Given the description of an element on the screen output the (x, y) to click on. 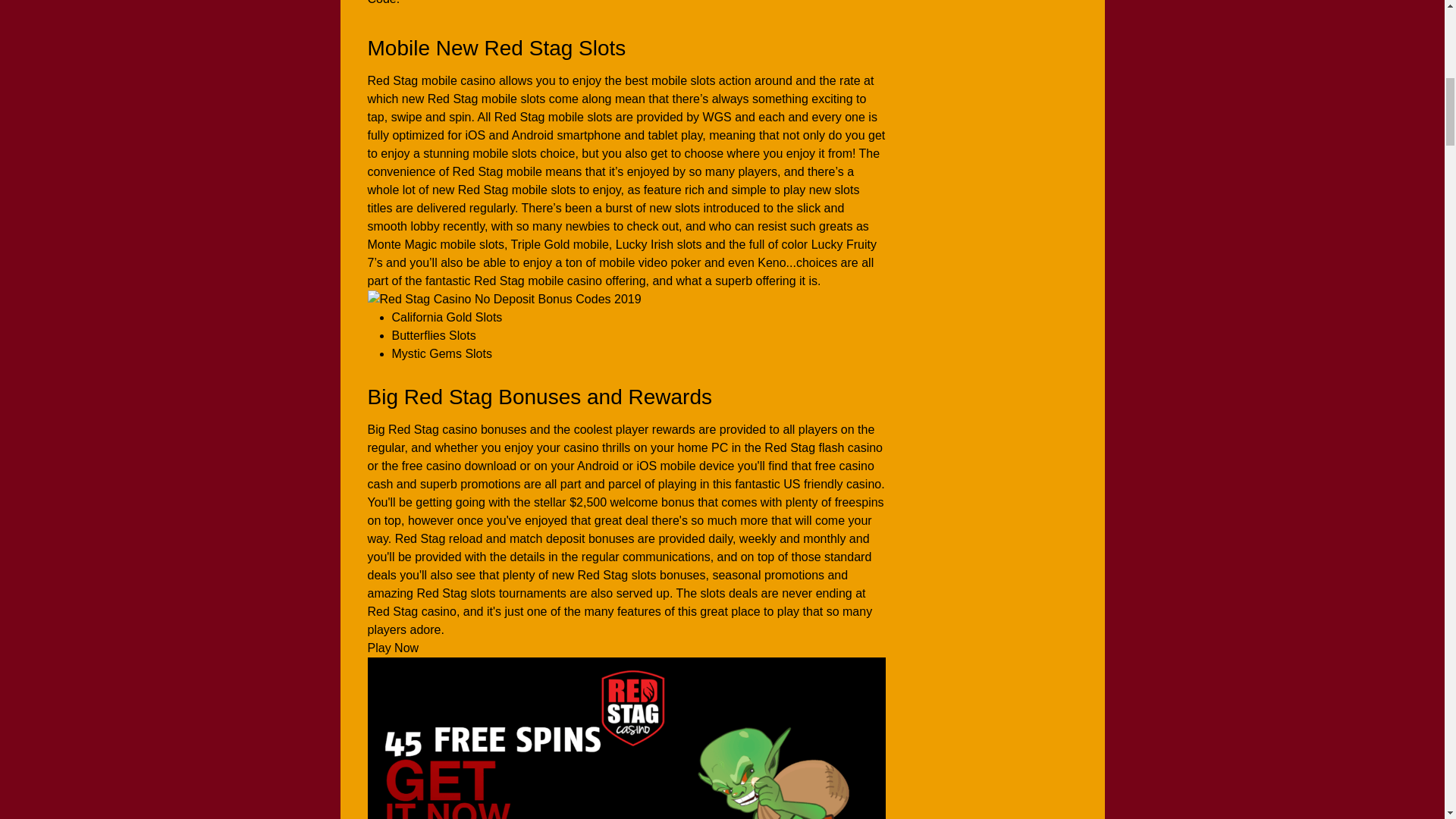
Red Stag Casino No Deposit Bonus Codes 2019 (503, 298)
Codes (625, 737)
